Given the description of an element on the screen output the (x, y) to click on. 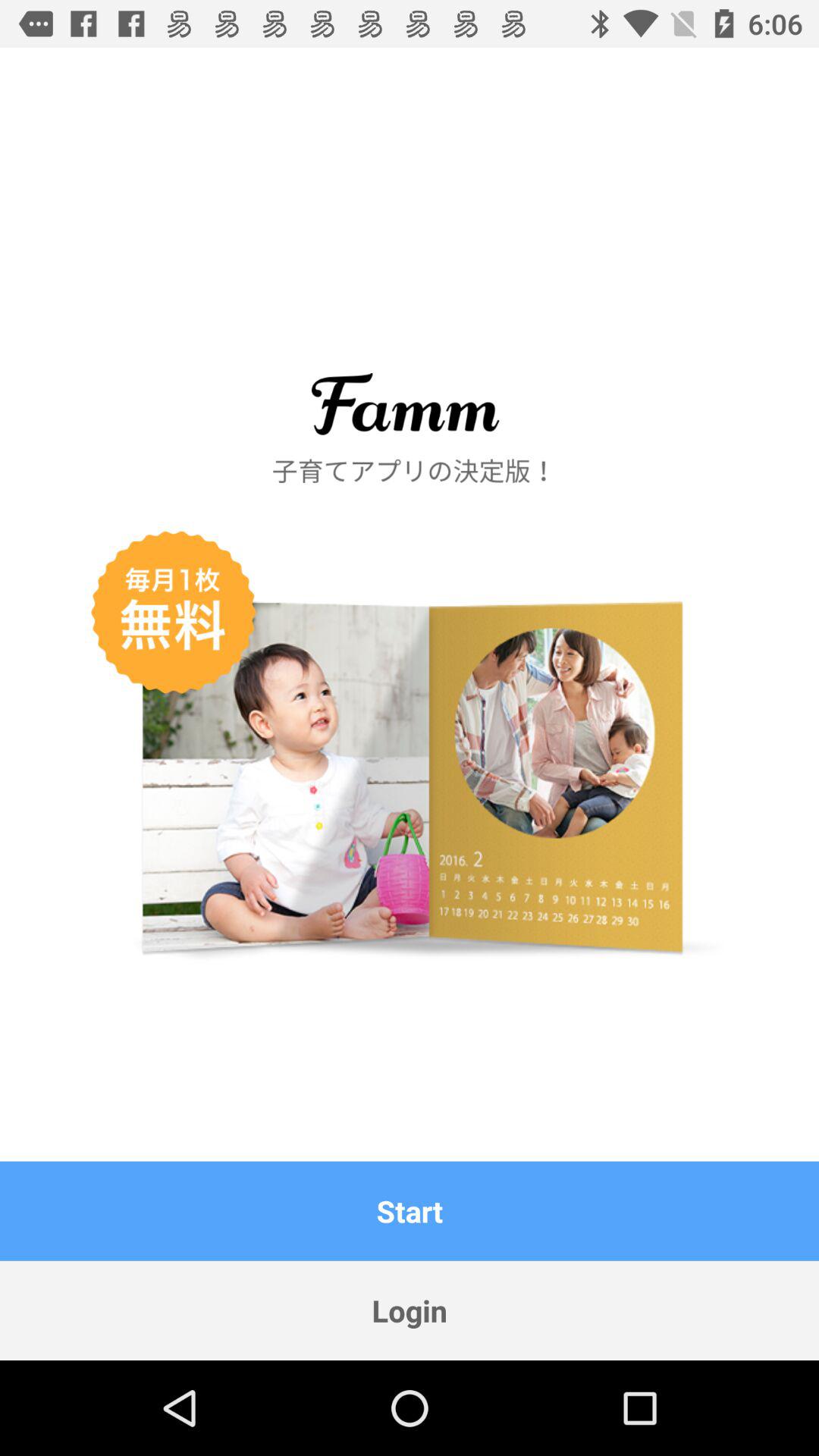
scroll to the login item (409, 1310)
